Given the description of an element on the screen output the (x, y) to click on. 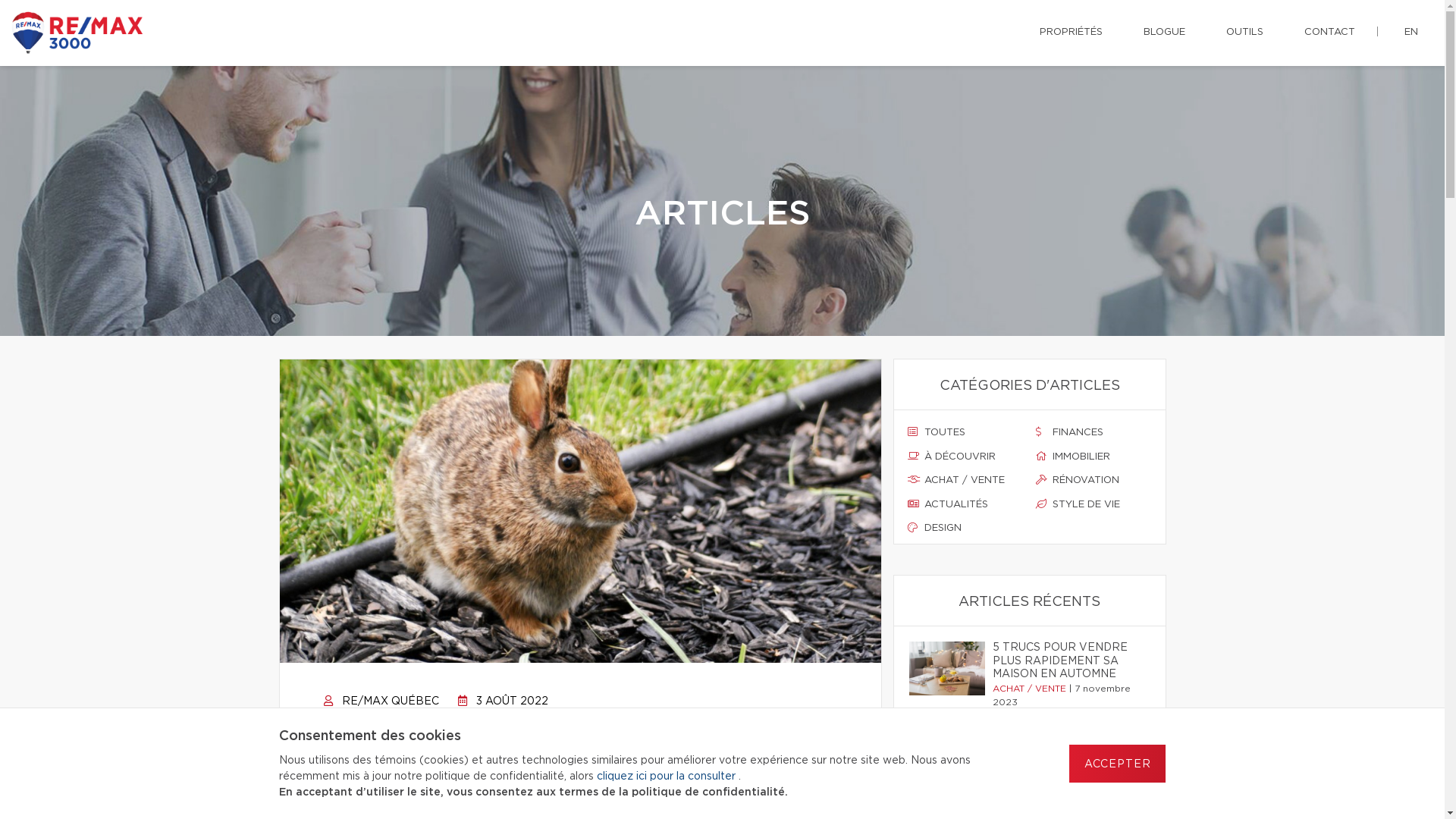
DESIGN Element type: text (964, 528)
OUTILS Element type: text (1244, 32)
TOUTES Element type: text (964, 432)
IMMOBILIER Element type: text (1093, 456)
STYLE DE VIE Element type: text (1093, 504)
FINANCES Element type: text (1093, 432)
EN Element type: text (1411, 32)
5 TRUCS POUR VENDRE PLUS RAPIDEMENT SA MAISON EN AUTOMNE Element type: text (1066, 661)
CONTACT Element type: text (1329, 32)
cliquez ici pour la consulter Element type: text (666, 776)
BLOGUE Element type: text (1164, 32)
ACCEPTER Element type: text (1117, 763)
ACHAT / VENTE Element type: text (964, 480)
